Given the description of an element on the screen output the (x, y) to click on. 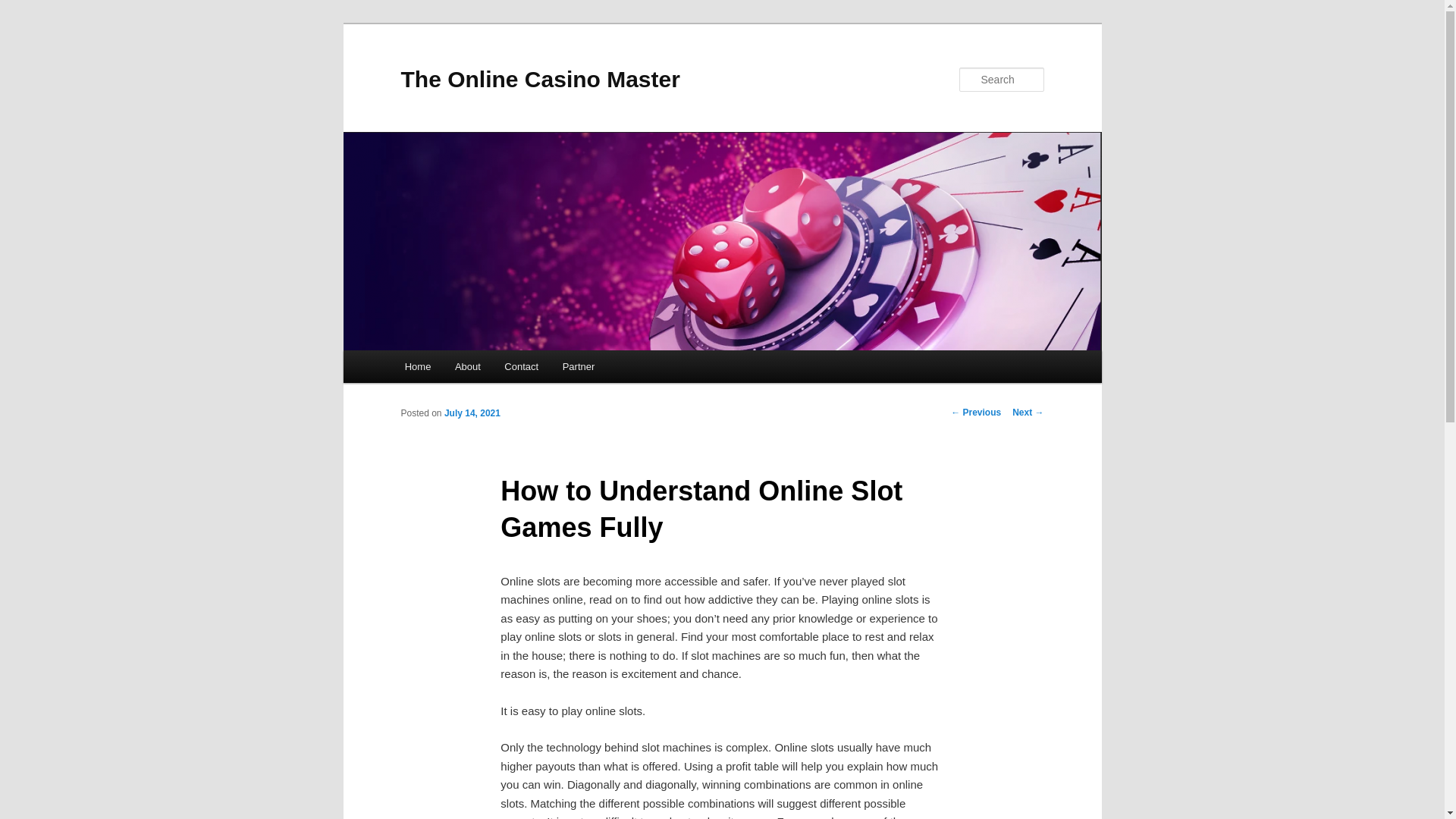
About (467, 366)
Home (417, 366)
Search (24, 8)
Contact (521, 366)
The Online Casino Master (539, 78)
5:15 am (472, 412)
Partner (578, 366)
July 14, 2021 (472, 412)
